Given the description of an element on the screen output the (x, y) to click on. 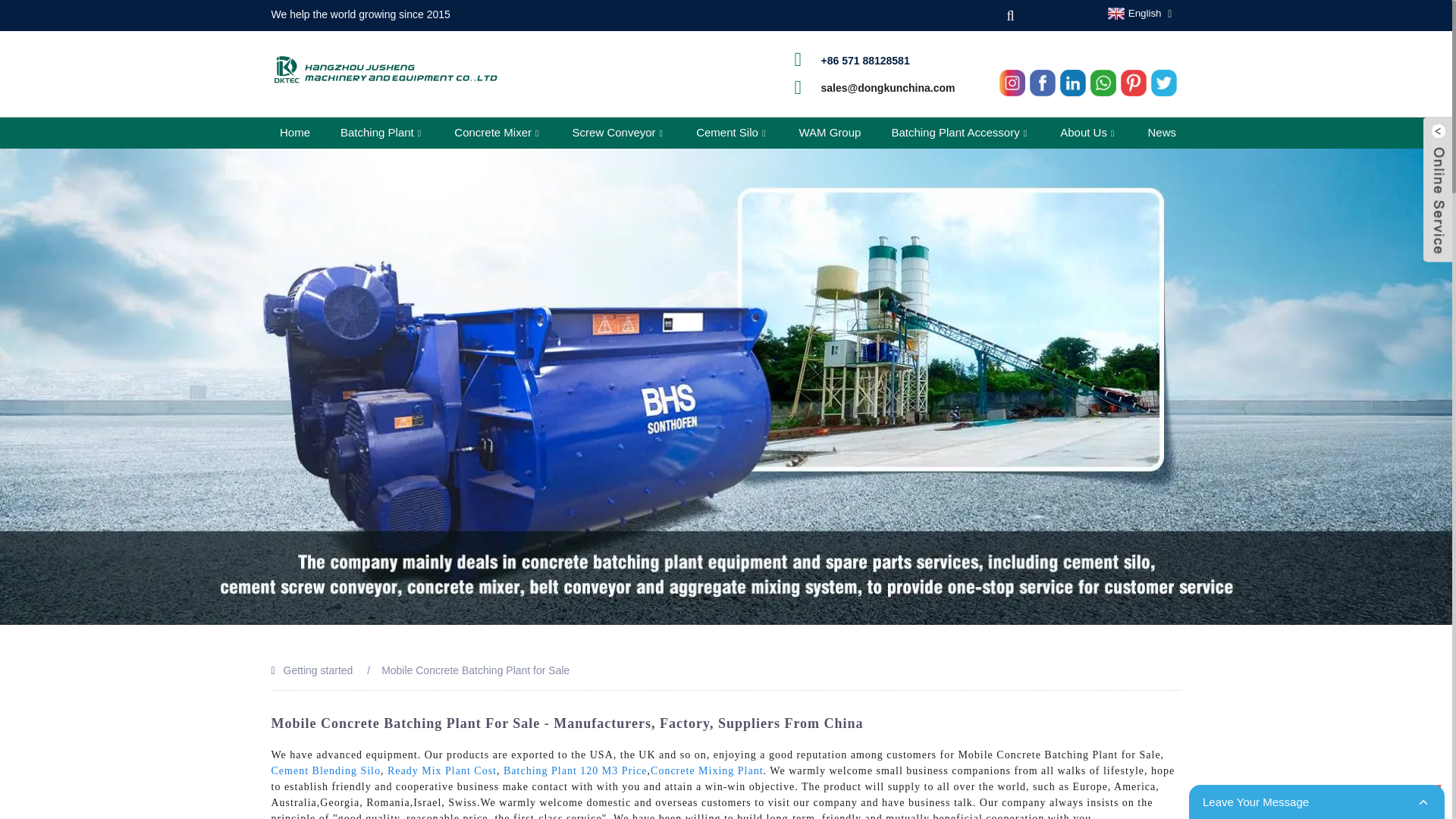
Concrete Mixing Plant (706, 770)
English (1132, 13)
Cement Silo (730, 132)
Batching Plant 120 M3 Price (575, 770)
WAM Group (829, 132)
Ready Mix Plant Cost (441, 770)
Batching Plant 120 M3 Price (575, 770)
Home (294, 132)
Cement Blending Silo (325, 770)
Concrete Mixer (496, 132)
